Given the description of an element on the screen output the (x, y) to click on. 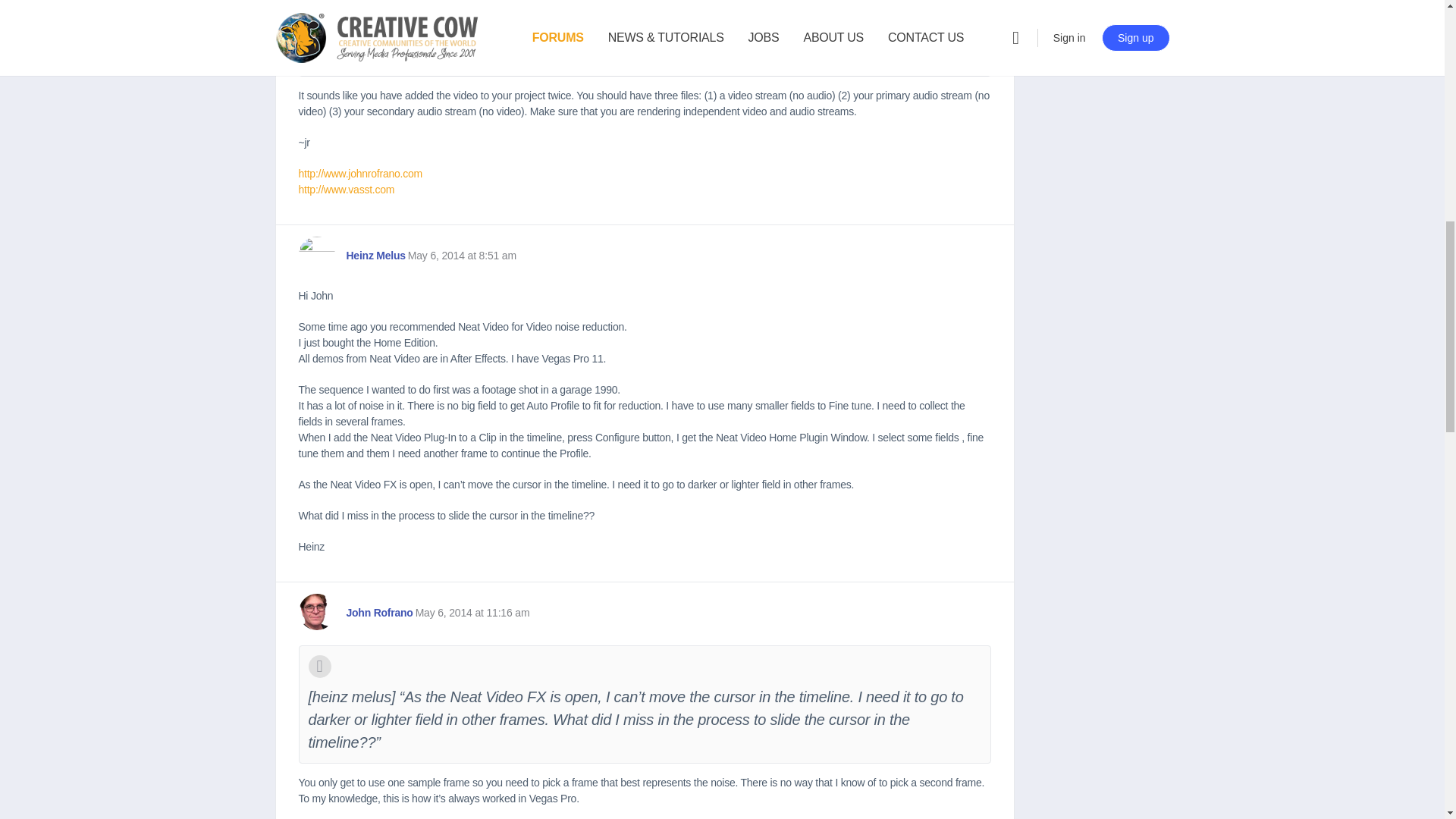
View Heinz Melus's profile (316, 254)
View John Rofrano's profile (316, 611)
View Heinz Melus's profile (375, 255)
View John Rofrano's profile (379, 612)
